Given the description of an element on the screen output the (x, y) to click on. 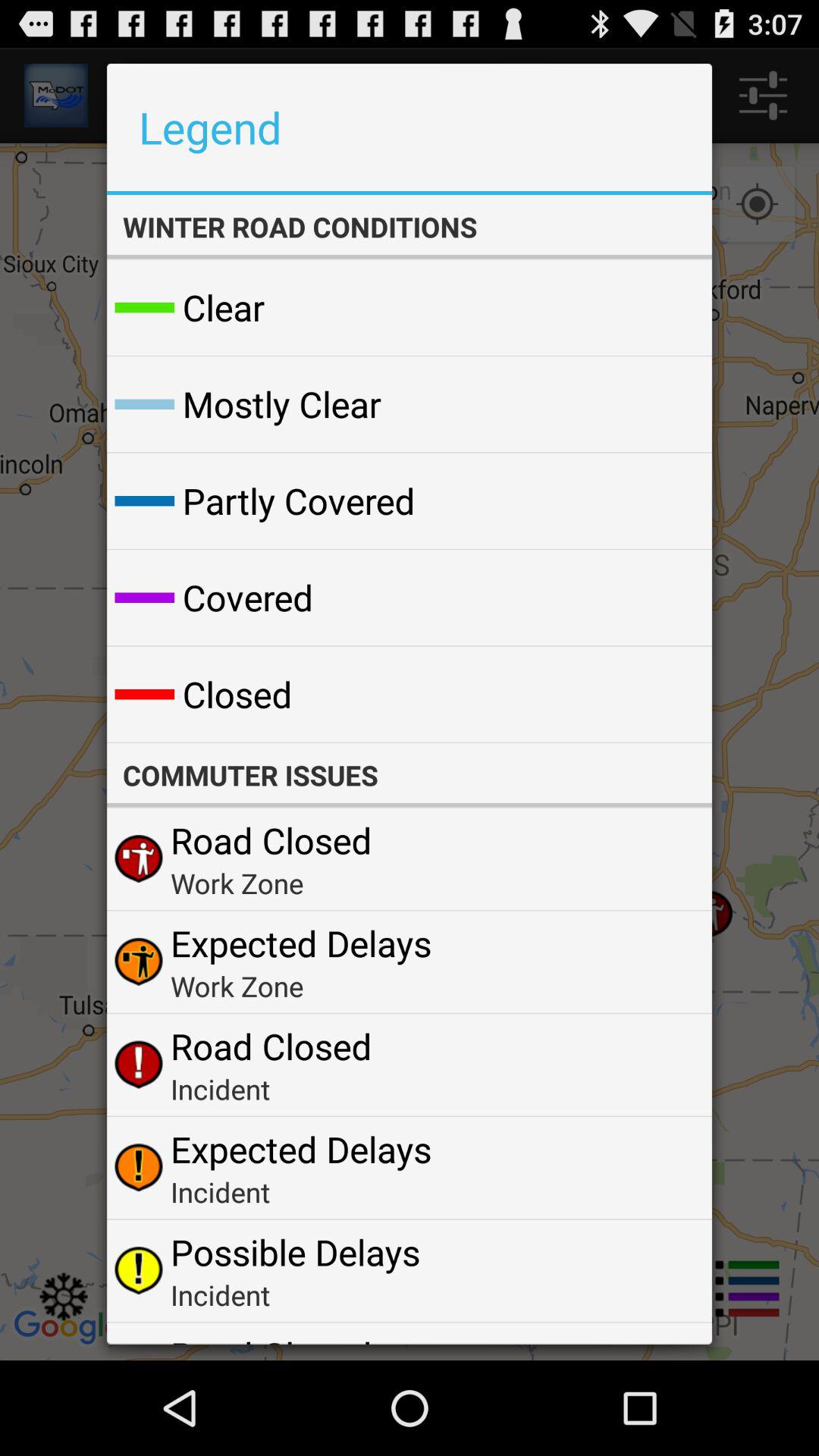
tap the icon below the winter road conditions (664, 307)
